Given the description of an element on the screen output the (x, y) to click on. 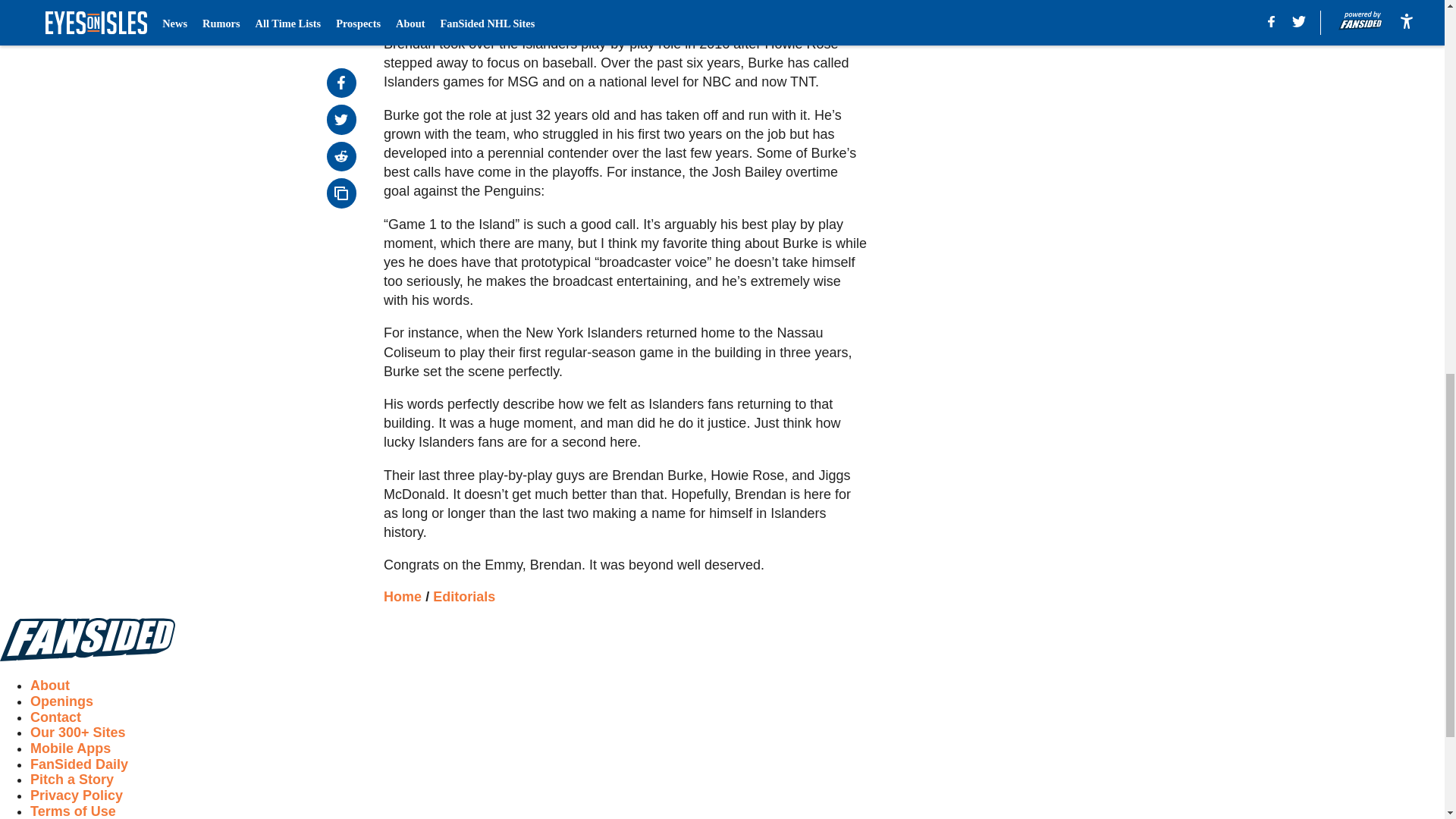
FanSided Daily (79, 764)
Openings (61, 701)
Mobile Apps (70, 748)
About (49, 685)
Emmy for Sports Play-By-Play (625, 9)
Terms of Use (73, 811)
Editorials (463, 595)
Contact (55, 717)
Pitch a Story (71, 779)
Home (403, 595)
Privacy Policy (76, 795)
